Given the description of an element on the screen output the (x, y) to click on. 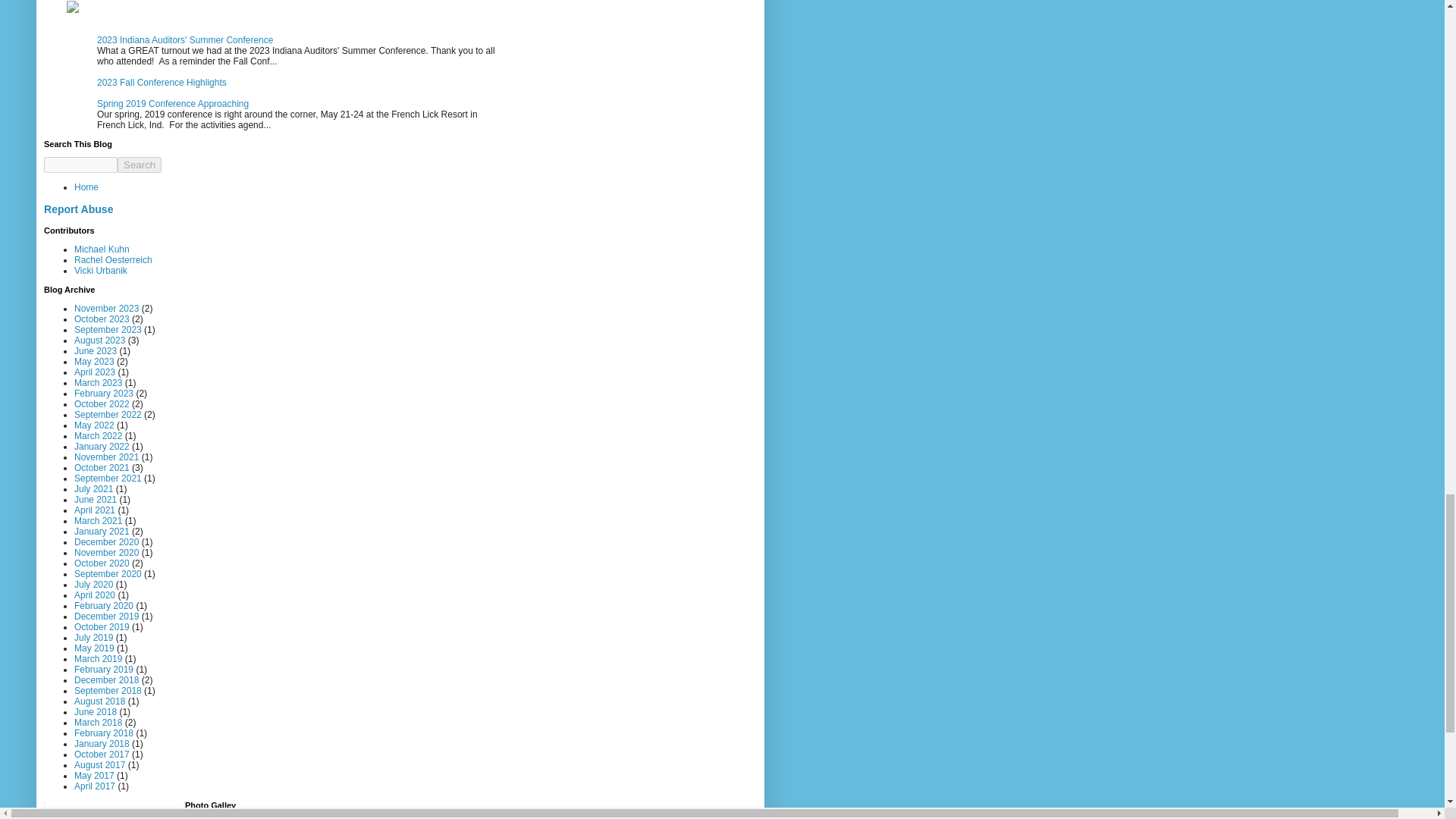
Search (139, 163)
May 2023 (94, 361)
Rachel Oesterreich (113, 259)
November 2023 (106, 308)
April 2023 (94, 371)
Report Abuse (78, 209)
Search (139, 163)
2023 Indiana Auditors' Summer Conference (185, 40)
Spring 2019 Conference Approaching (172, 103)
October 2023 (101, 318)
search (80, 163)
September 2023 (107, 329)
search (139, 163)
Michael Kuhn (101, 249)
Search (139, 163)
